Given the description of an element on the screen output the (x, y) to click on. 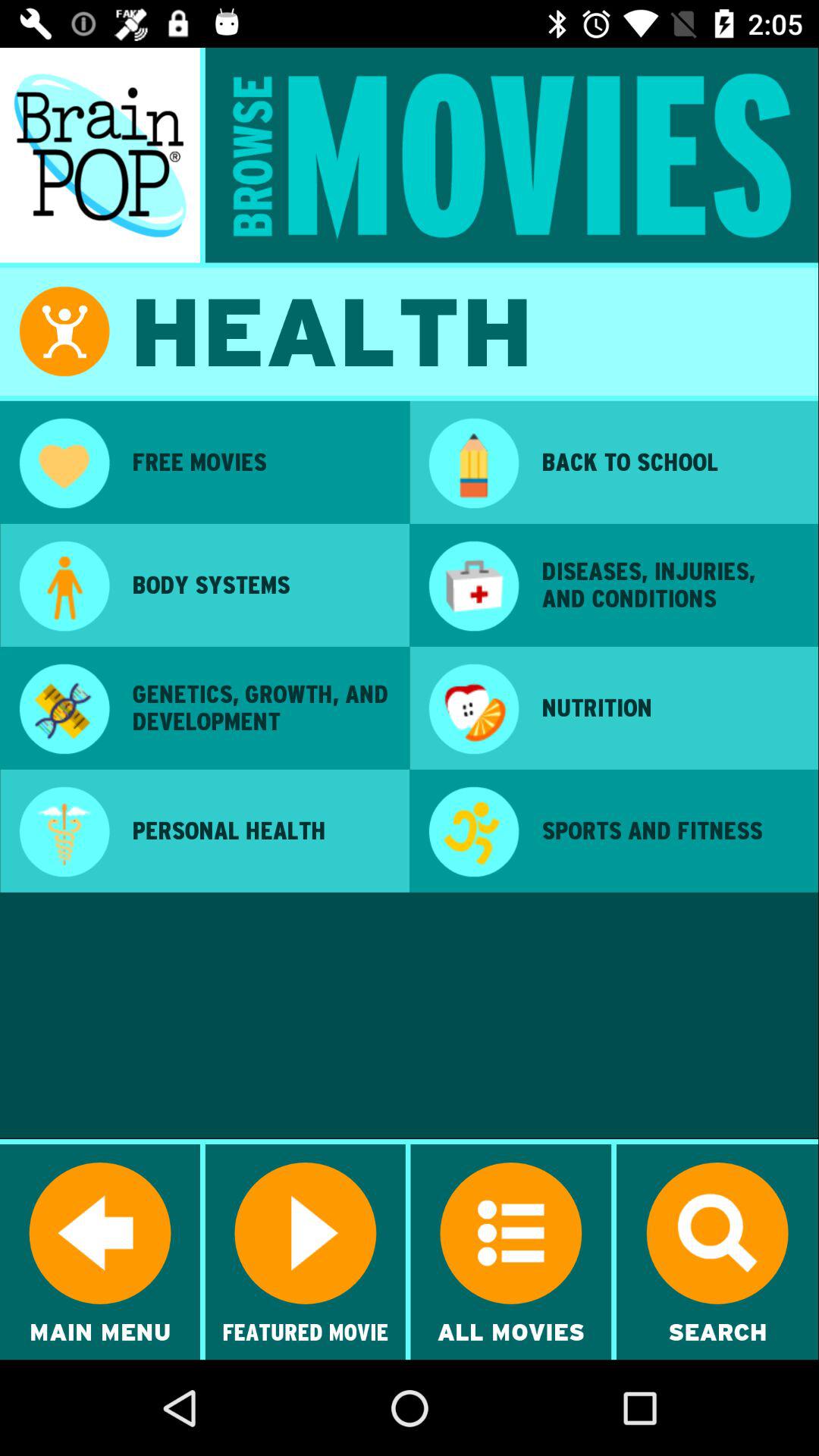
turn off the icon below sports and fitness item (670, 953)
